Given the description of an element on the screen output the (x, y) to click on. 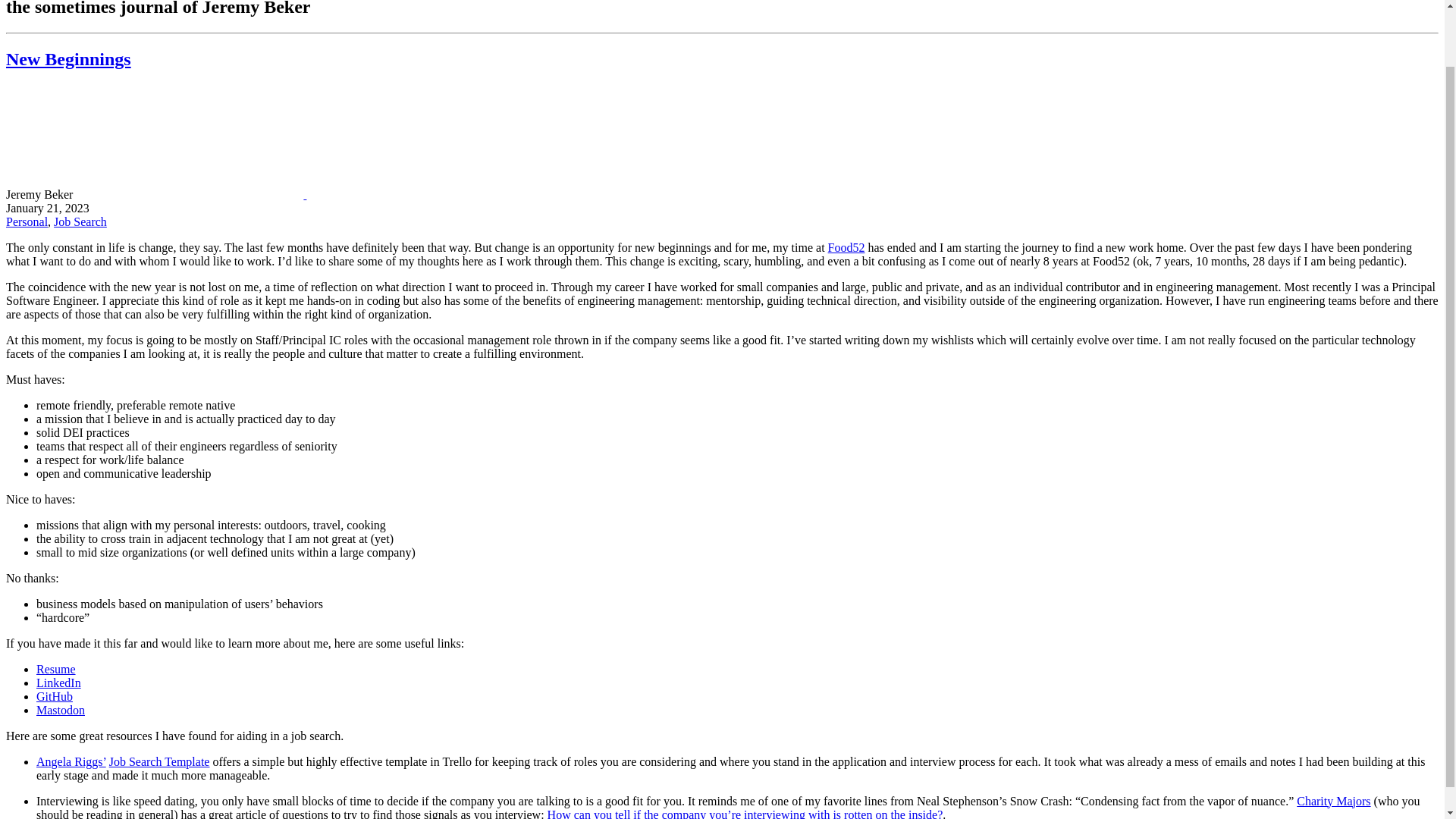
Job Search Template (159, 761)
LinkedIn (58, 682)
Food52 (846, 246)
Charity Majors (1333, 800)
Resume (55, 668)
Mastodon (60, 709)
GitHub (54, 696)
New Beginnings (68, 58)
Personal (26, 221)
Job Search (79, 221)
